Given the description of an element on the screen output the (x, y) to click on. 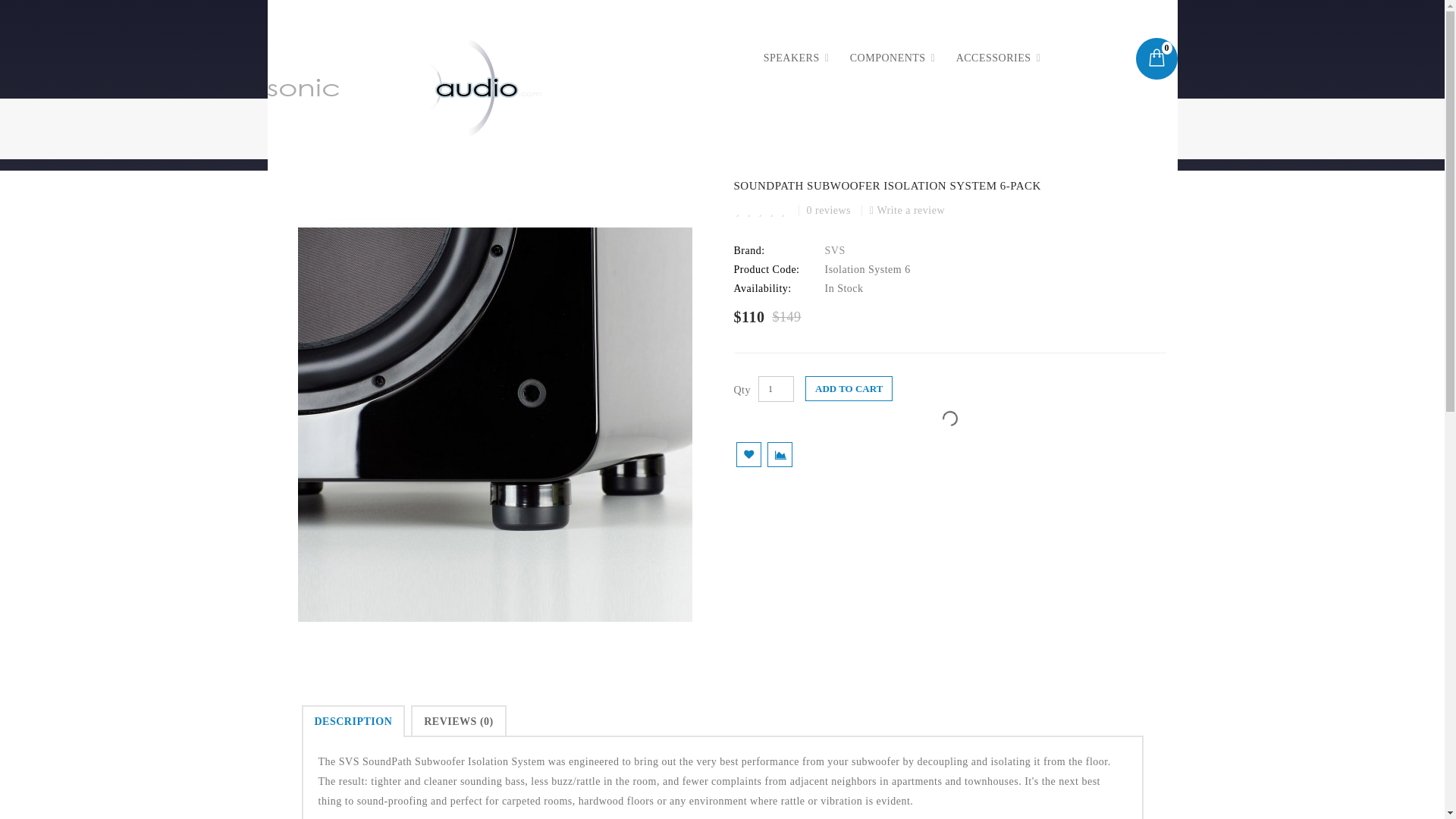
1 (775, 388)
Sonic Boom Audio Canada (403, 87)
0 reviews (828, 210)
COMPONENTS (888, 58)
ACCESSORIES (993, 58)
SoundPath Subwoofer Isolation System 6-Pack (394, 127)
ADD TO CART (848, 388)
0 (1156, 58)
DESCRIPTION (353, 721)
Write a review (906, 210)
SPEAKERS (790, 58)
SVS (835, 250)
